Given the description of an element on the screen output the (x, y) to click on. 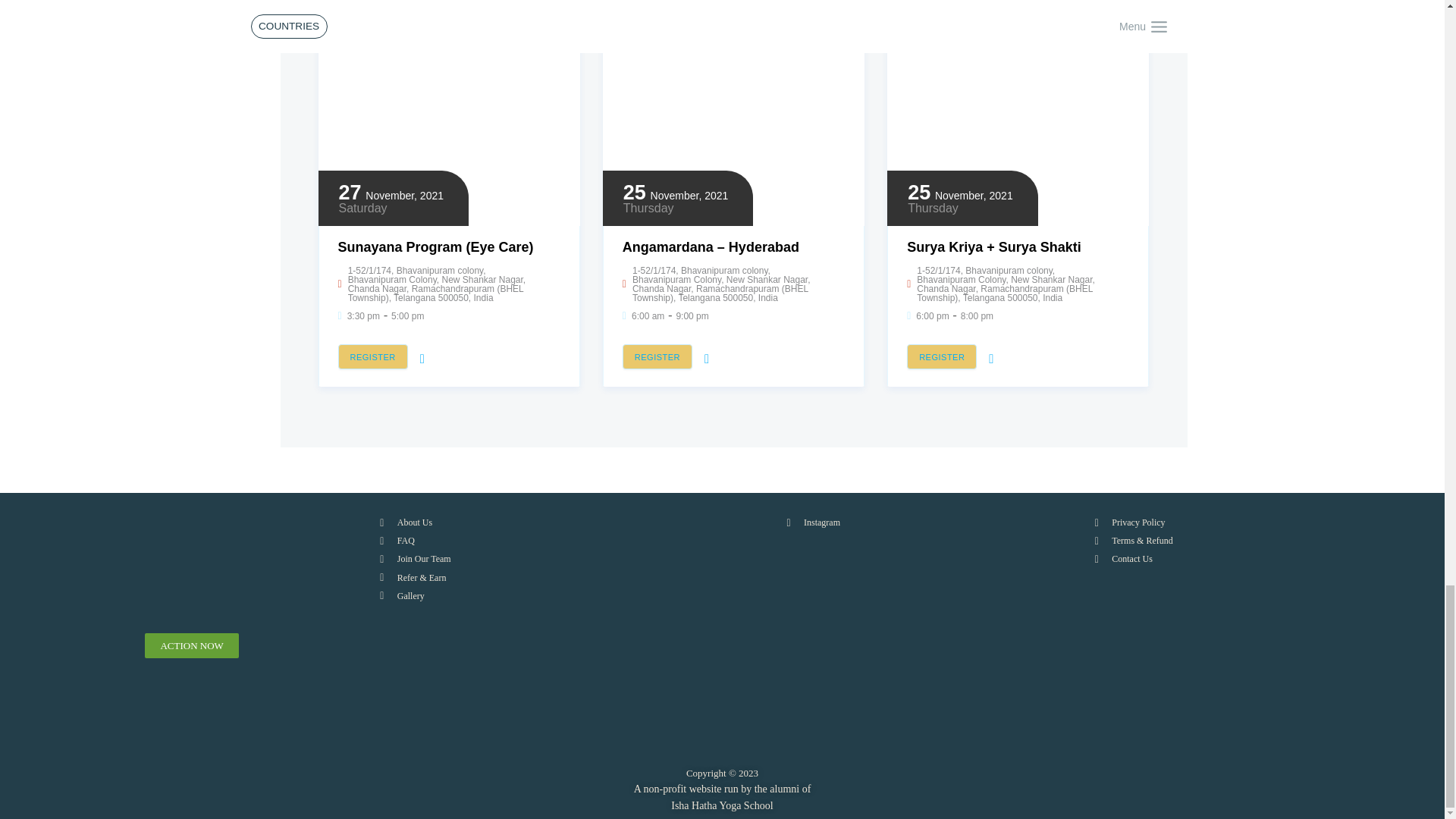
REGISTER (658, 356)
REGISTER (941, 356)
REGISTER (372, 356)
